Given the description of an element on the screen output the (x, y) to click on. 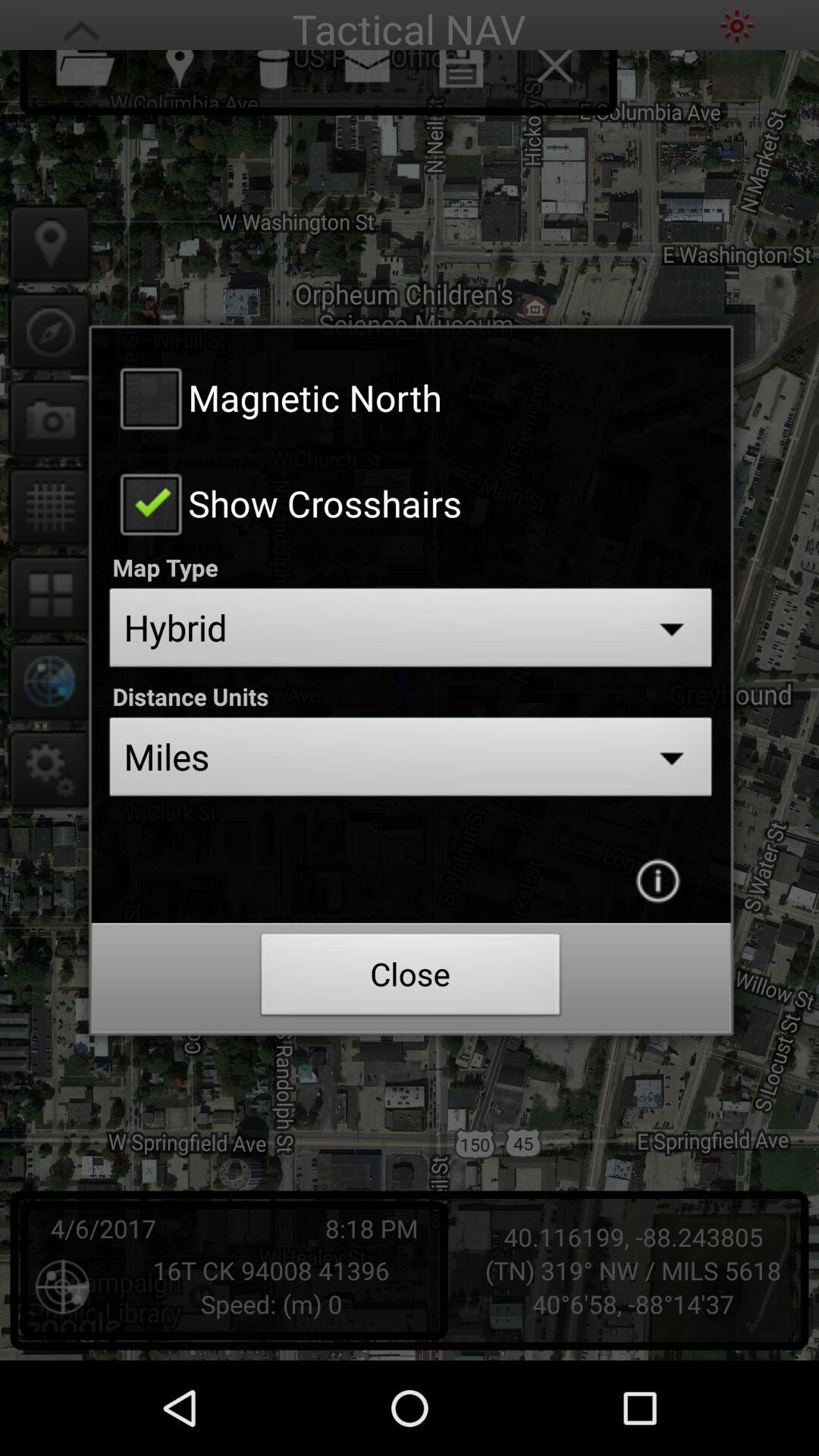
get more information (657, 880)
